Given the description of an element on the screen output the (x, y) to click on. 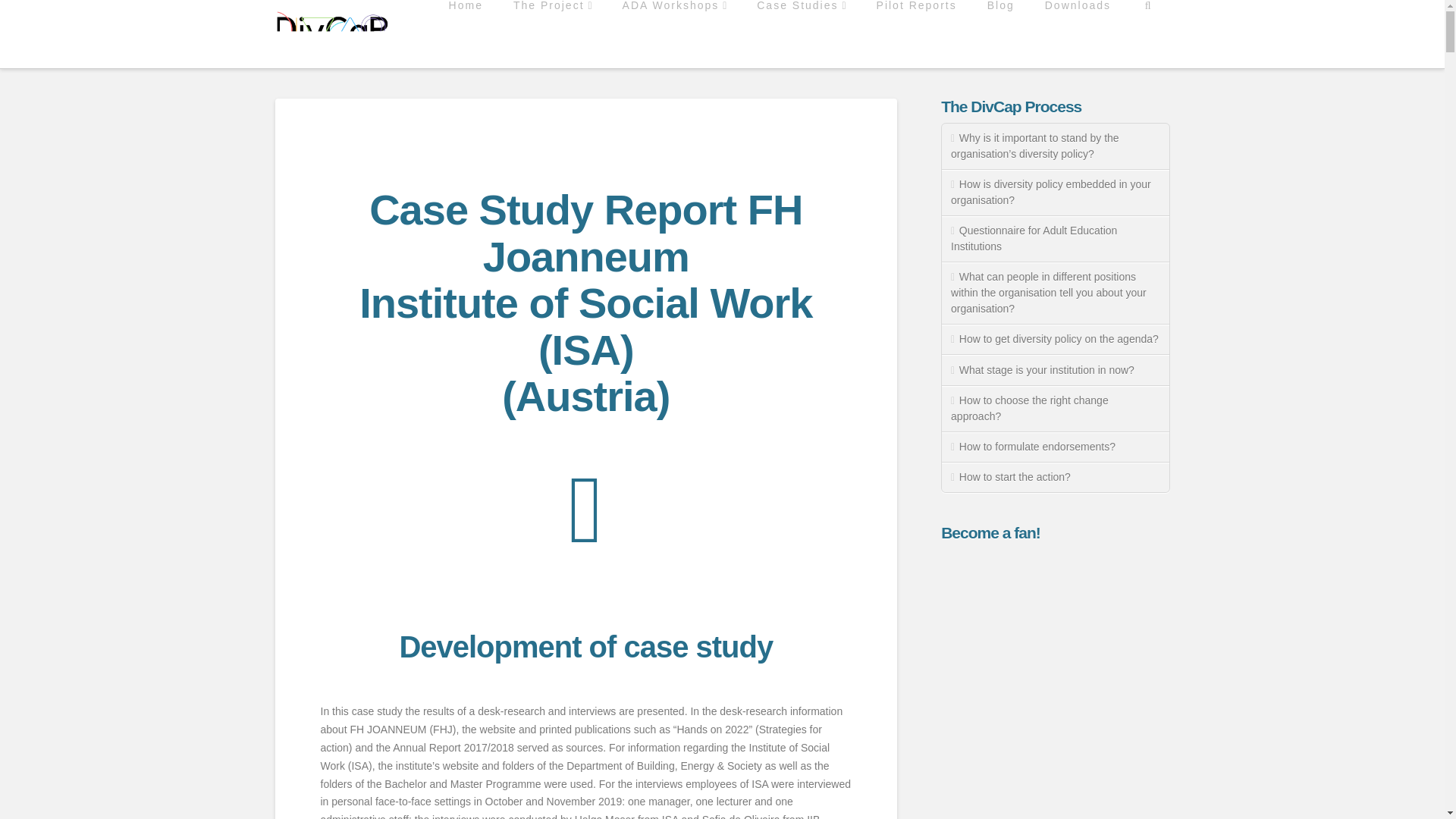
How to get diversity policy on the agenda? (1055, 339)
What stage is your institution in now? (1055, 369)
Questionnaire for Adult Education Institutions (1055, 239)
Downloads (1077, 33)
The Project (552, 33)
Case Studies (800, 33)
ADA Workshops (674, 33)
How is diversity policy embedded in your organisation? (1055, 192)
